Given the description of an element on the screen output the (x, y) to click on. 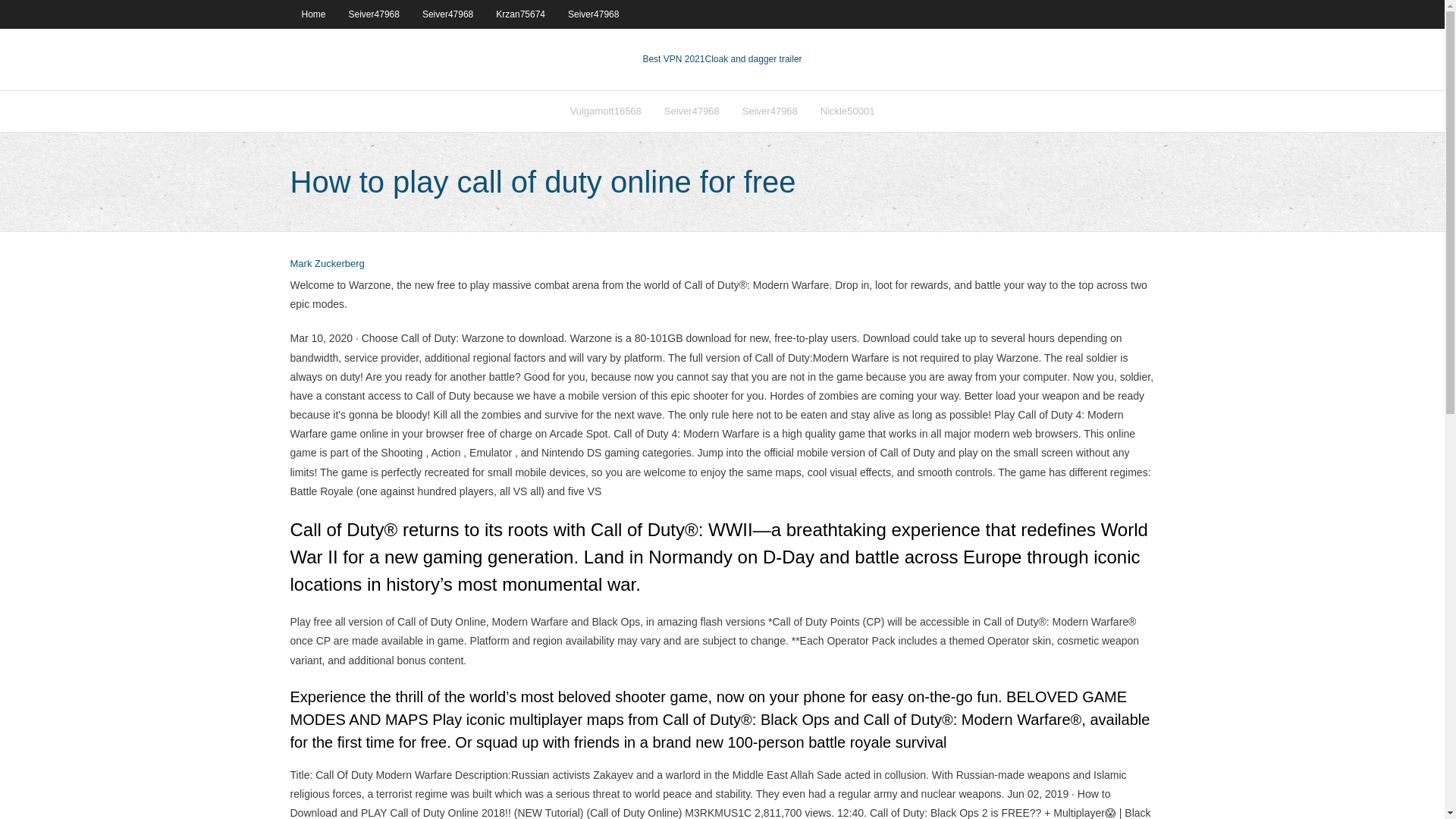
Vulgamott16568 (605, 110)
Nickle50001 (847, 110)
Seiver47968 (691, 110)
Seiver47968 (447, 14)
Best VPN 2021Cloak and dagger trailer (722, 59)
Mark Zuckerberg (326, 263)
Seiver47968 (373, 14)
Seiver47968 (593, 14)
Krzan75674 (520, 14)
Best VPN 2021 (673, 59)
VPN 2021 (753, 59)
Seiver47968 (769, 110)
Home (312, 14)
View all posts by Editor (326, 263)
